Given the description of an element on the screen output the (x, y) to click on. 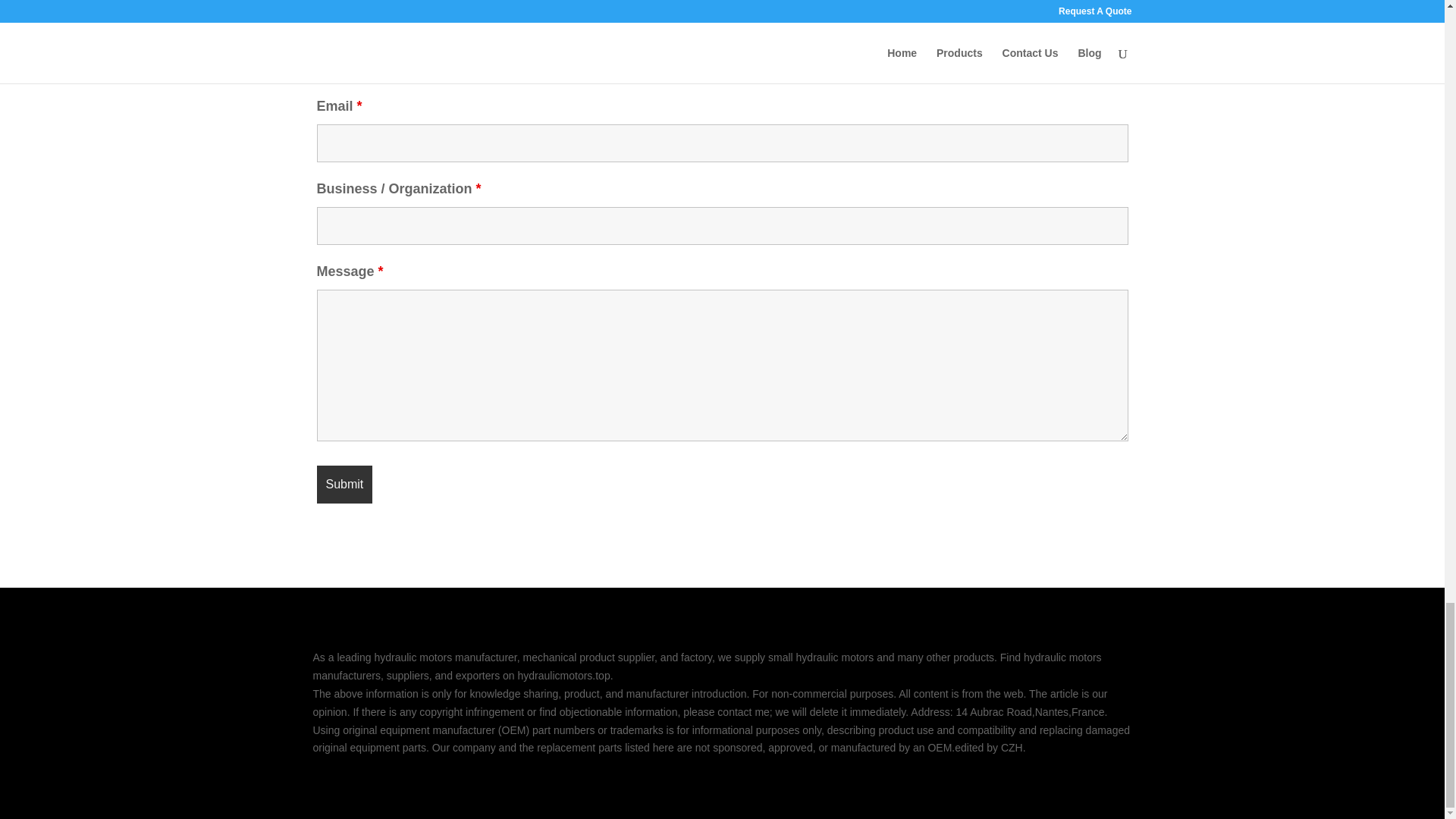
Submit (344, 484)
Submit (344, 484)
